Given the description of an element on the screen output the (x, y) to click on. 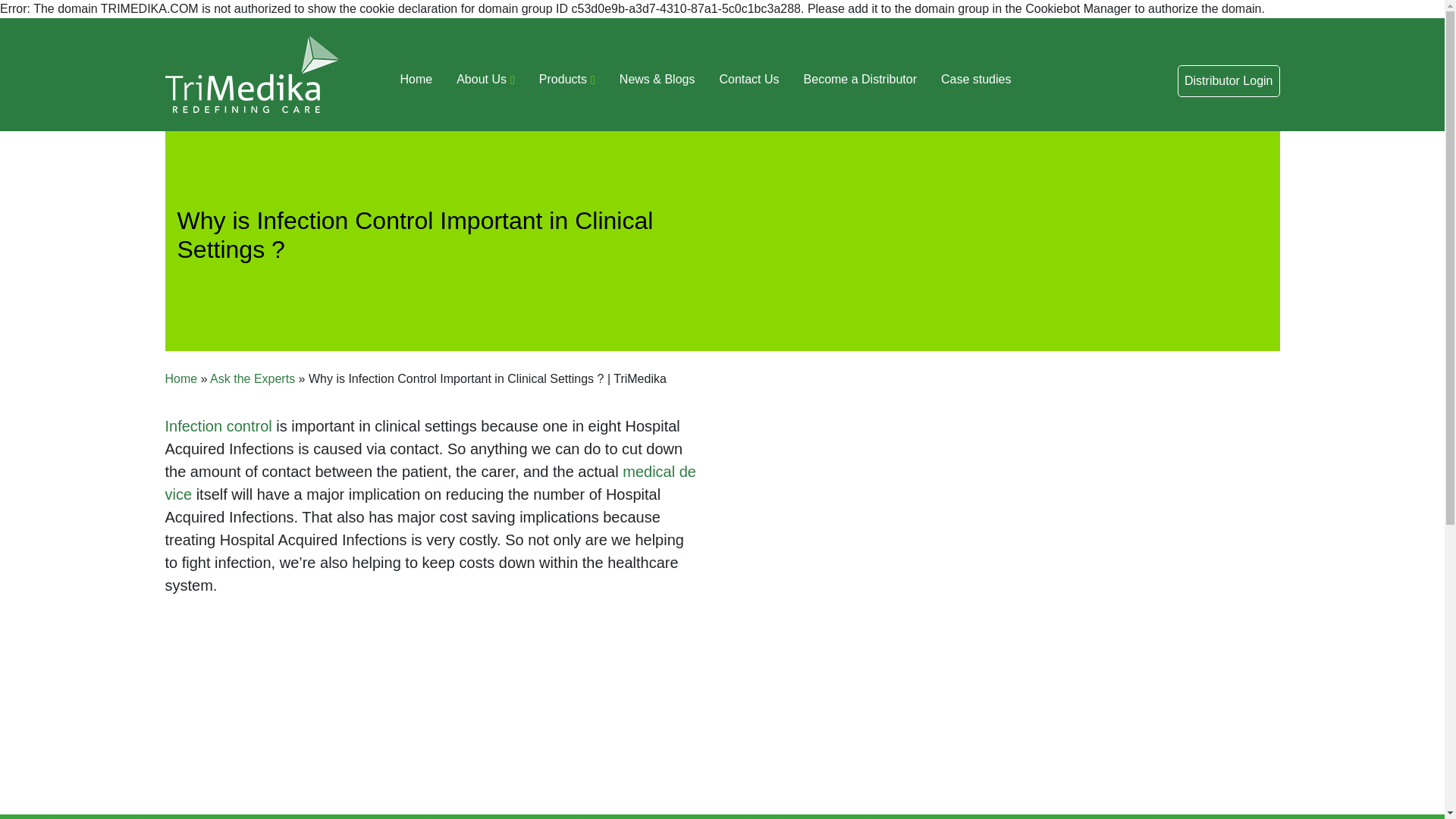
Home (181, 378)
Products (567, 83)
medical device (430, 482)
Distributor Login (1228, 80)
Become a Distributor (860, 83)
Ask the Experts (252, 378)
About Us (485, 83)
Contact Us (748, 83)
Distributor Login (1228, 80)
About Us (485, 83)
Case studies (975, 83)
Products (567, 83)
Contact Us (748, 83)
Home (416, 83)
Case studies (975, 83)
